Given the description of an element on the screen output the (x, y) to click on. 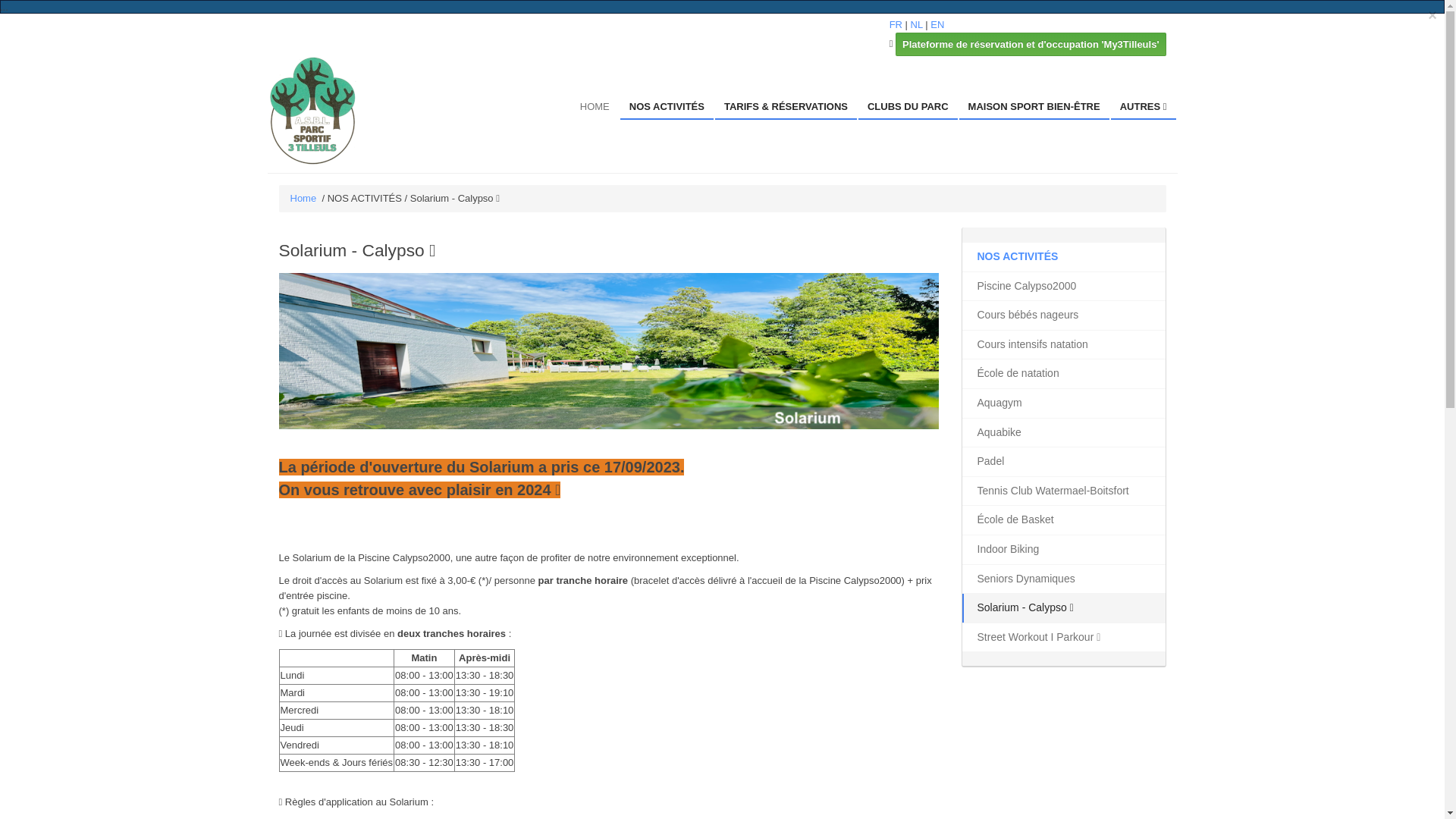
HOME Element type: text (594, 107)
Padel Element type: text (1062, 461)
Aquagym Element type: text (1062, 403)
Indoor Biking Element type: text (1062, 549)
EN Element type: text (937, 24)
NL Element type: text (916, 24)
Tennis Club Watermael-Boitsfort Element type: text (1062, 490)
FR Element type: text (895, 24)
Cours intensifs natation Element type: text (1062, 344)
Home Element type: text (302, 197)
Seniors Dynamiques Element type: text (1062, 578)
CLUBS DU PARC Element type: text (907, 107)
Piscine Calypso2000 Element type: text (1062, 286)
Aquabike Element type: text (1062, 432)
